Given the description of an element on the screen output the (x, y) to click on. 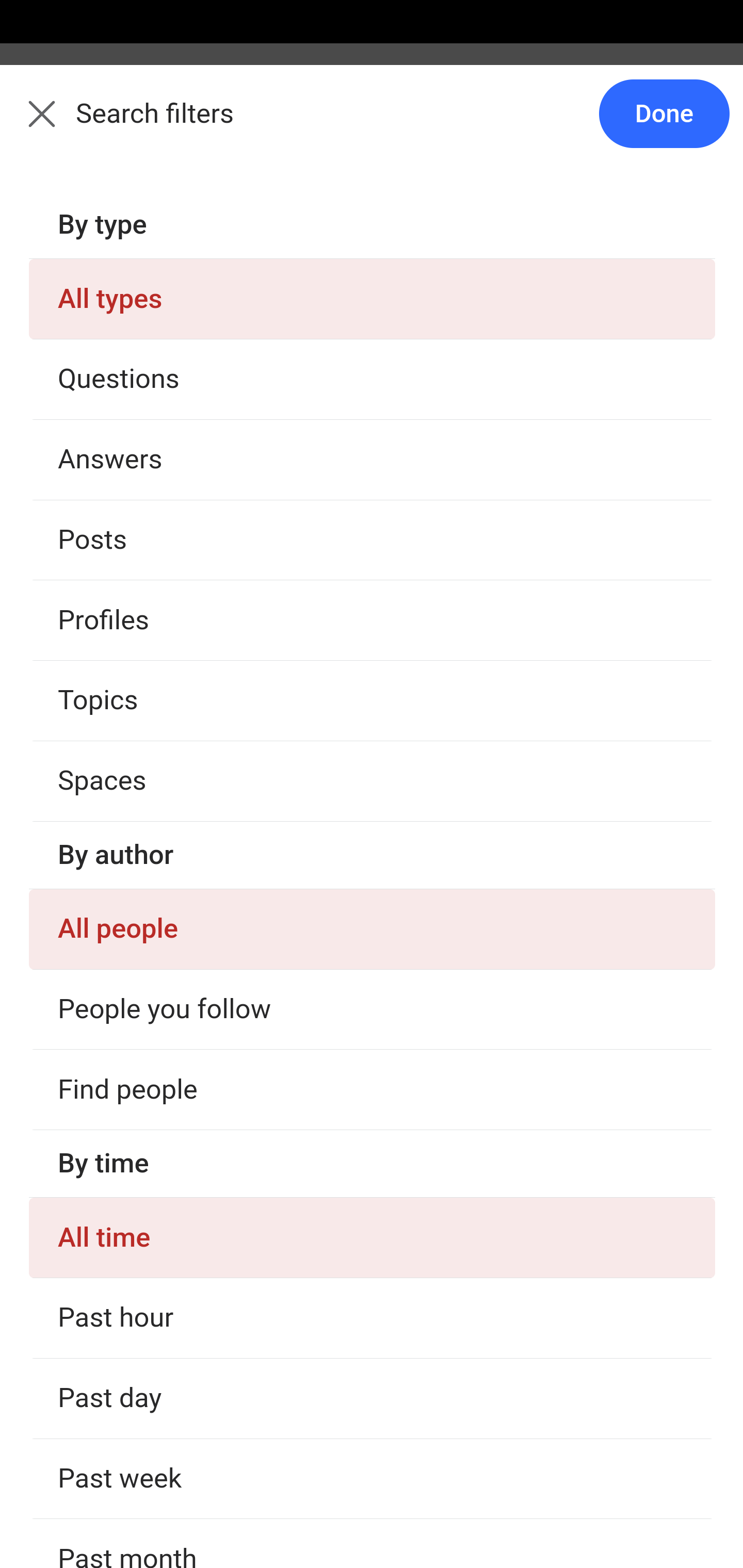
Back Search (371, 125)
Upvote (133, 544)
